Given the description of an element on the screen output the (x, y) to click on. 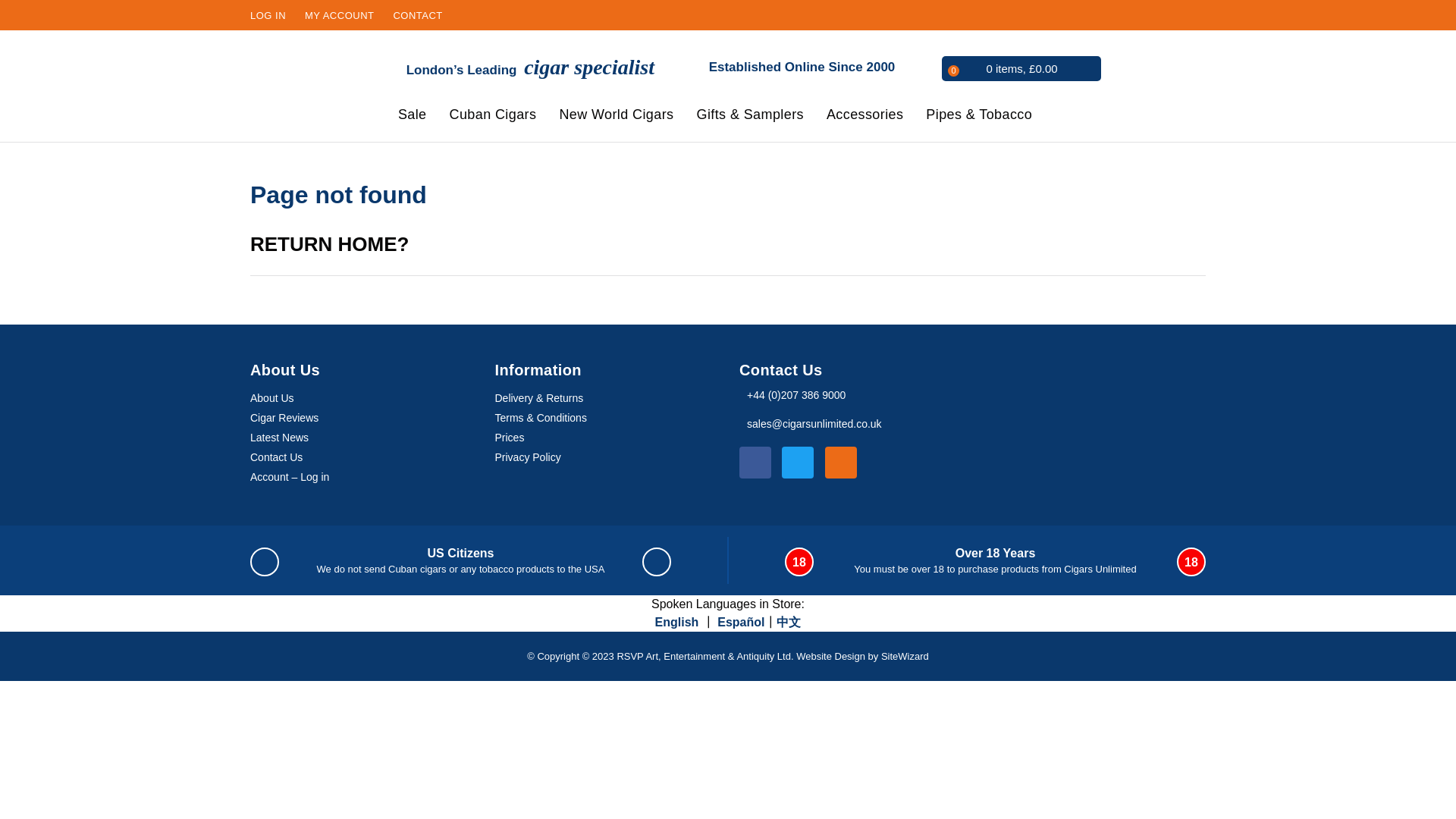
Contact (417, 15)
New World Cigars (619, 116)
My Account (339, 15)
Cuban Cigars (496, 116)
Accessories (868, 116)
CONTACT (417, 15)
Sale (416, 116)
MY ACCOUNT (339, 15)
LOG IN (267, 15)
Cigars Unlimited (301, 85)
